Given the description of an element on the screen output the (x, y) to click on. 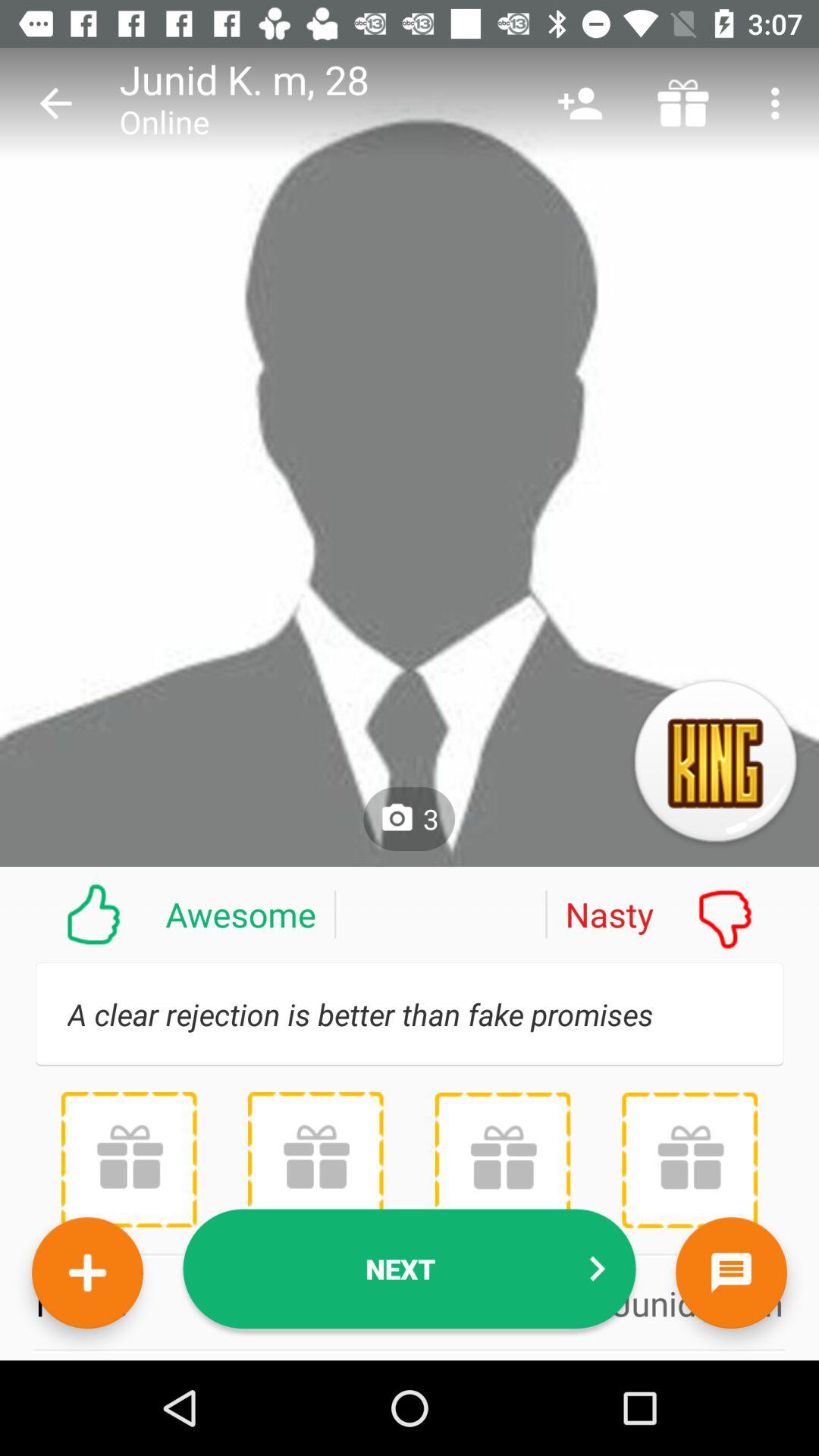
tap the 3 item (409, 818)
